Given the description of an element on the screen output the (x, y) to click on. 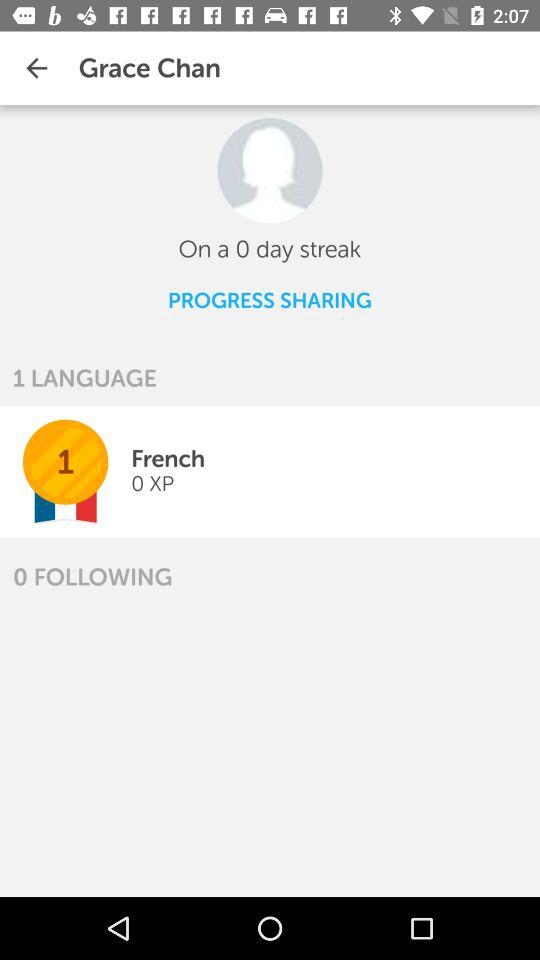
turn off app to the left of grace chan app (36, 68)
